Given the description of an element on the screen output the (x, y) to click on. 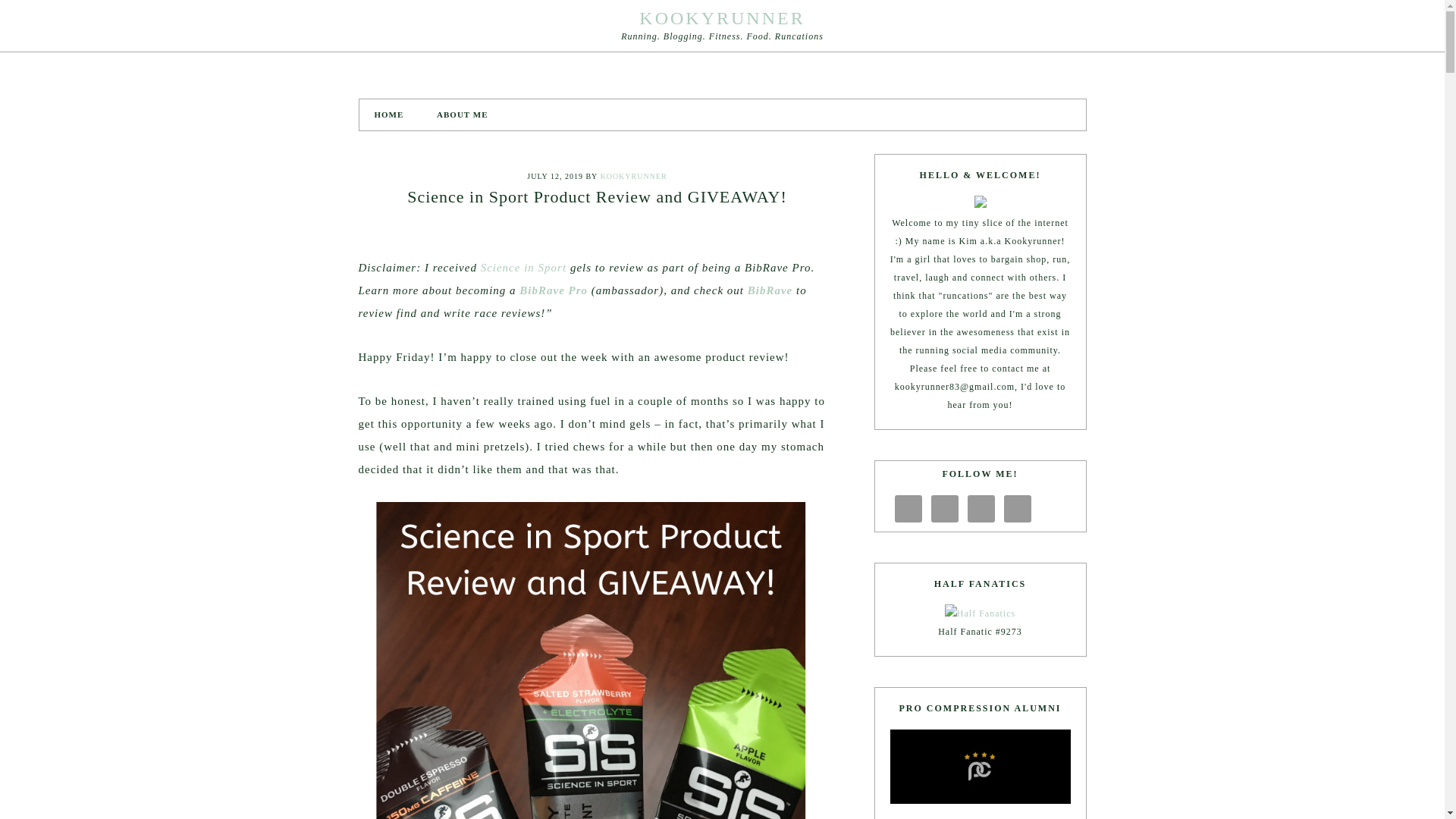
ABOUT ME (462, 114)
BibRave (770, 290)
BibRave Pro (553, 290)
HOME (389, 114)
KOOKYRUNNER (722, 17)
Science in Sport (523, 267)
KOOKYRUNNER (632, 175)
